Given the description of an element on the screen output the (x, y) to click on. 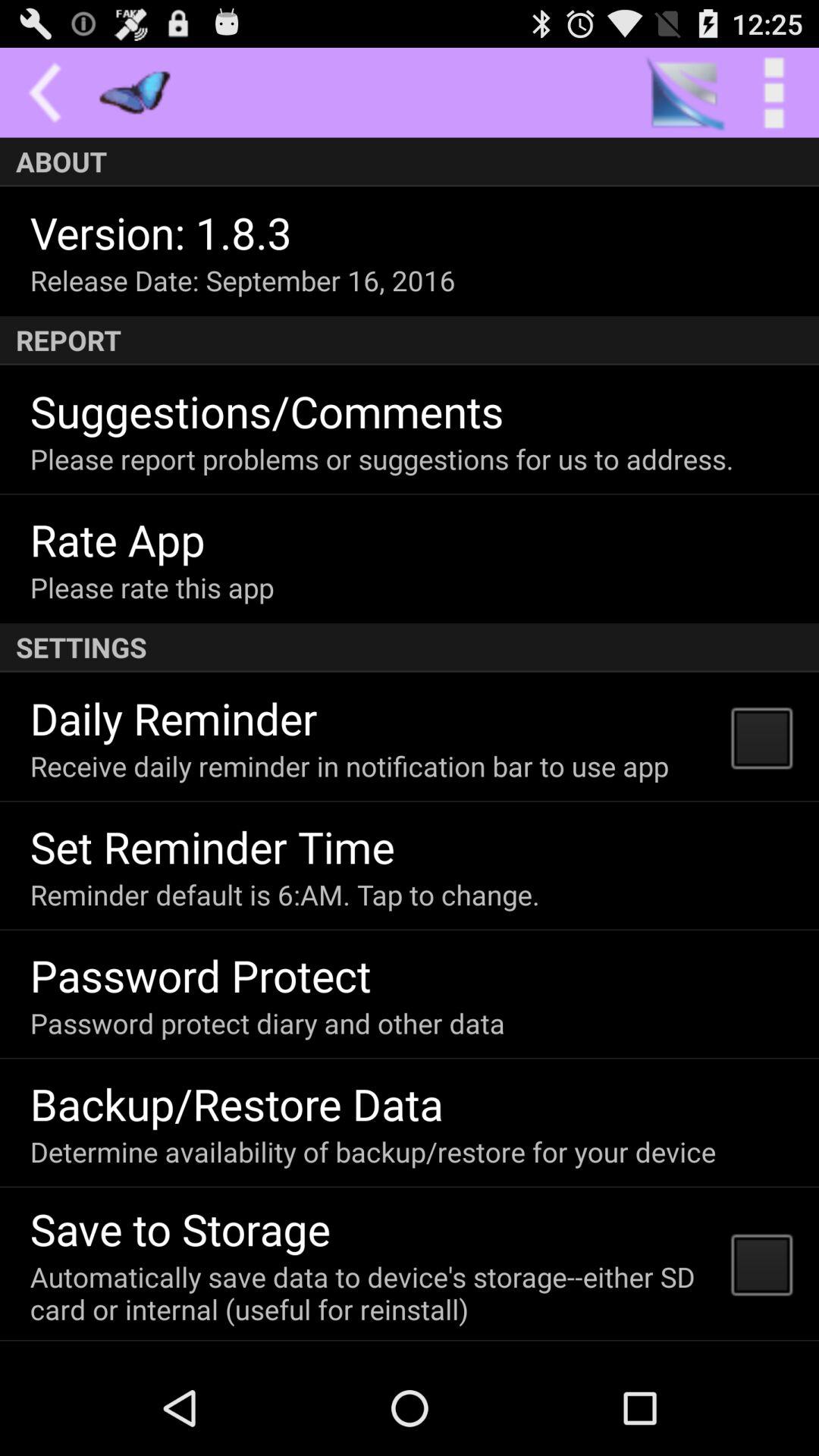
open the app below the automatically save data item (181, 1356)
